Given the description of an element on the screen output the (x, y) to click on. 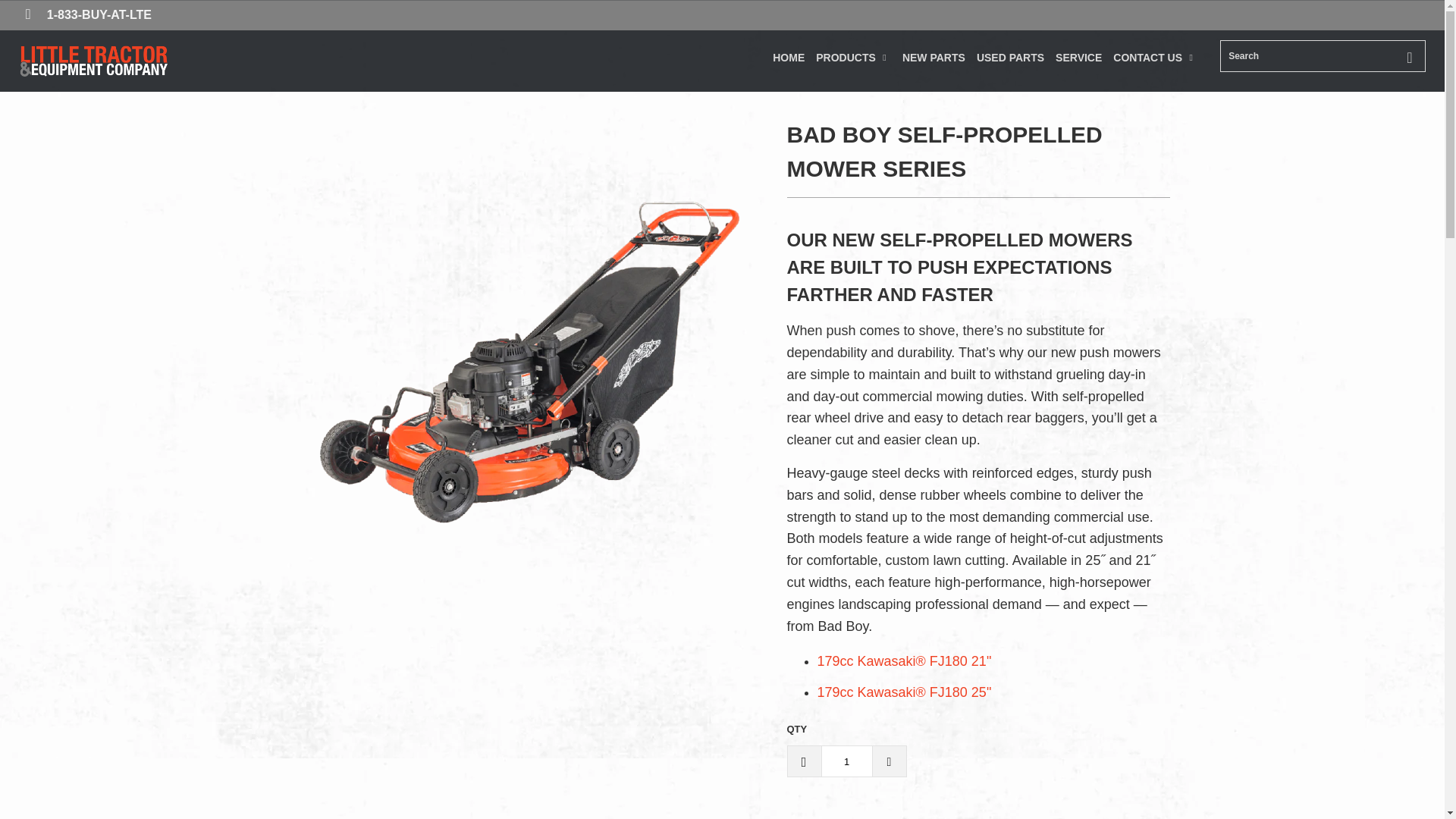
Download Brochure (903, 692)
1 (846, 761)
Download Brochure (903, 661)
